Given the description of an element on the screen output the (x, y) to click on. 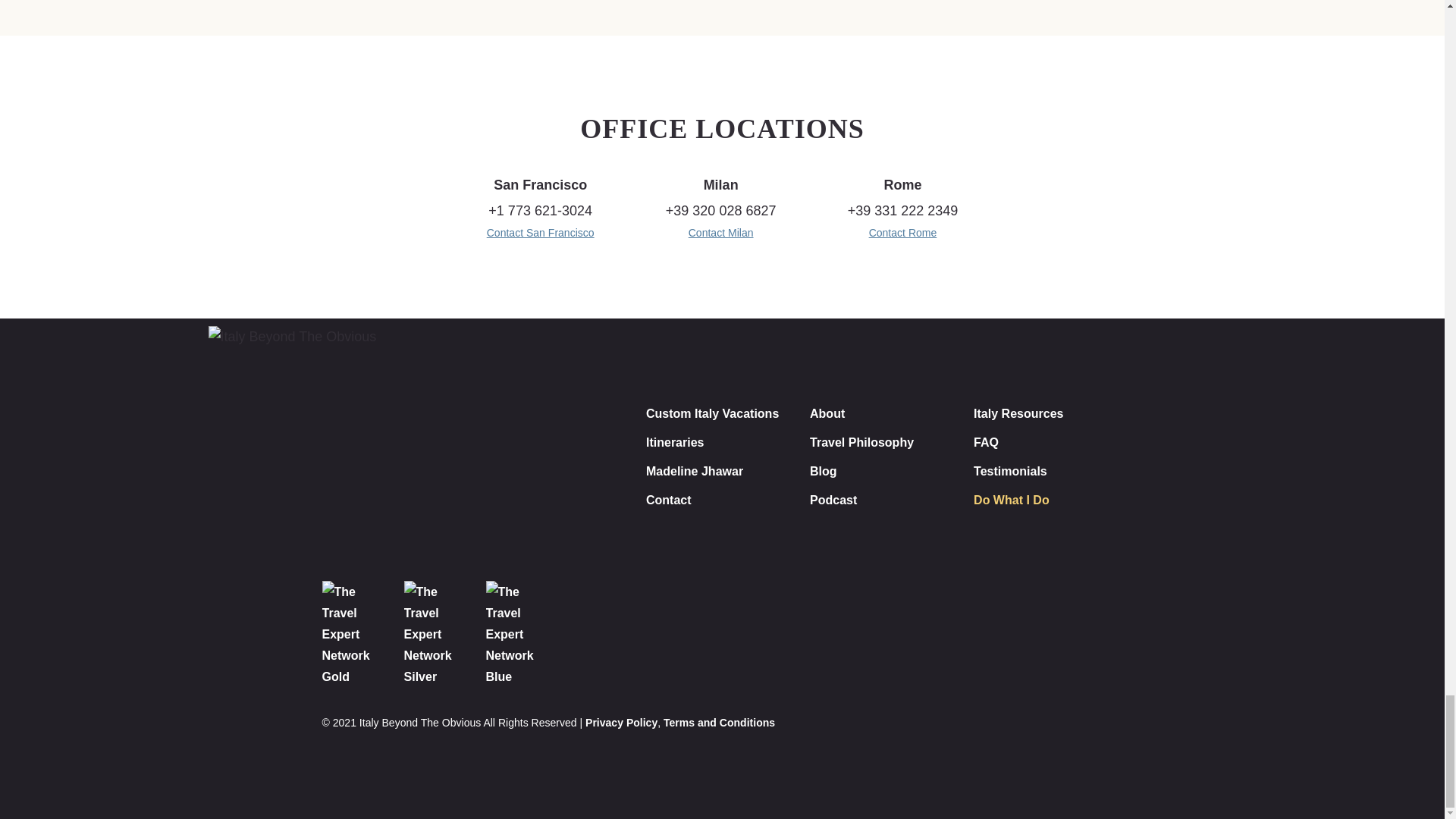
Contact Rome (903, 232)
Itineraries (675, 441)
Contact San Francisco (540, 232)
About (826, 413)
Italy Resources (1018, 413)
Like Us On Facebook (1049, 652)
Visit Us On LinkedIn (1101, 652)
Contact Milan (721, 232)
Custom Italy Vacations (712, 413)
Follow Us On Instagram (996, 652)
